Given the description of an element on the screen output the (x, y) to click on. 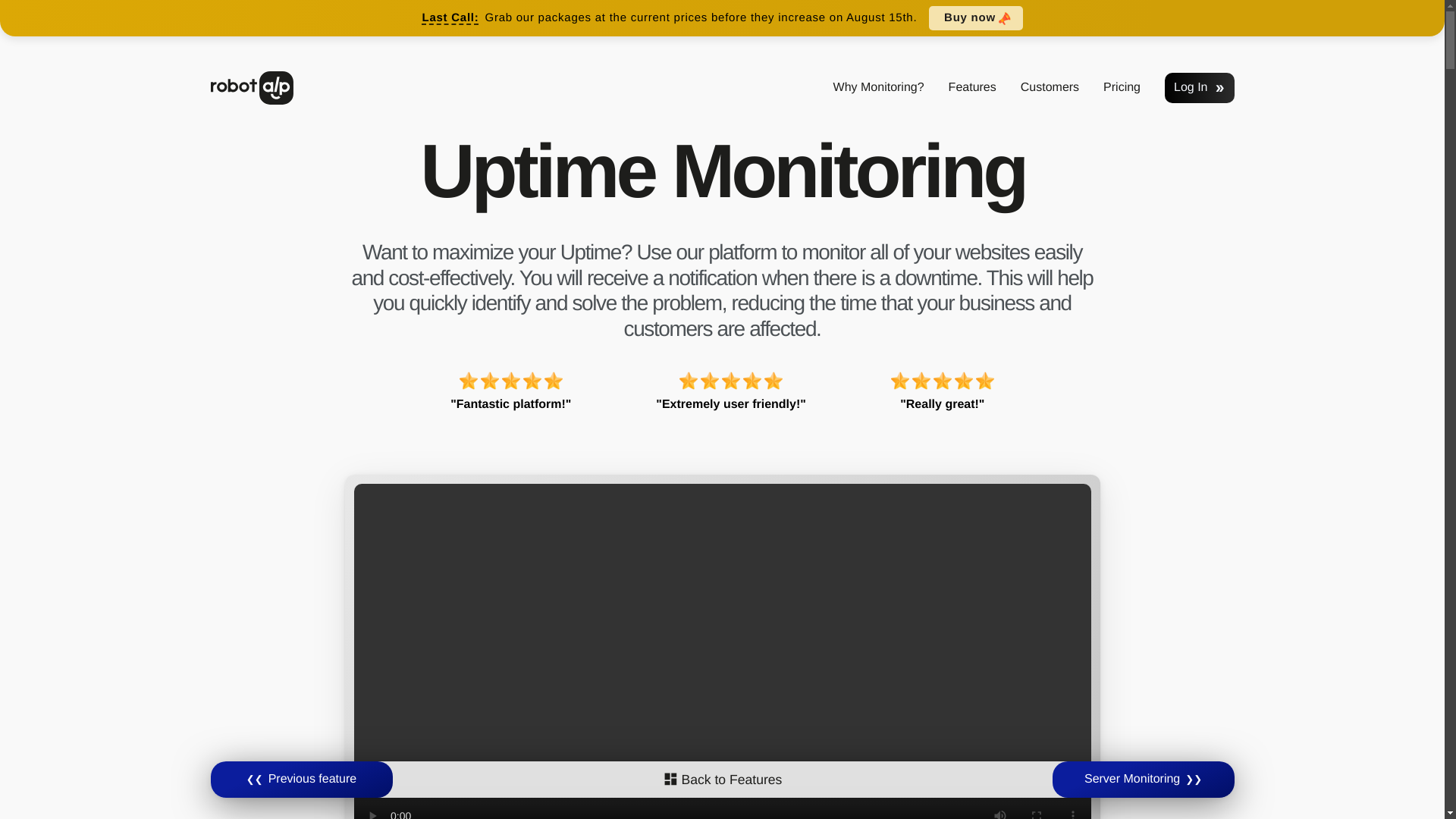
Previous feature (302, 779)
Previous feature (302, 779)
Reviews From Our Customers (1049, 87)
Robotalp Features (972, 87)
Back to Features (722, 778)
Buy now (969, 17)
Server Monitoring (1143, 779)
Uptime Monitoring - Website Monitoring - Robotalp (252, 87)
Robotalp Log In (1198, 87)
Why Monitoring (878, 87)
